Given the description of an element on the screen output the (x, y) to click on. 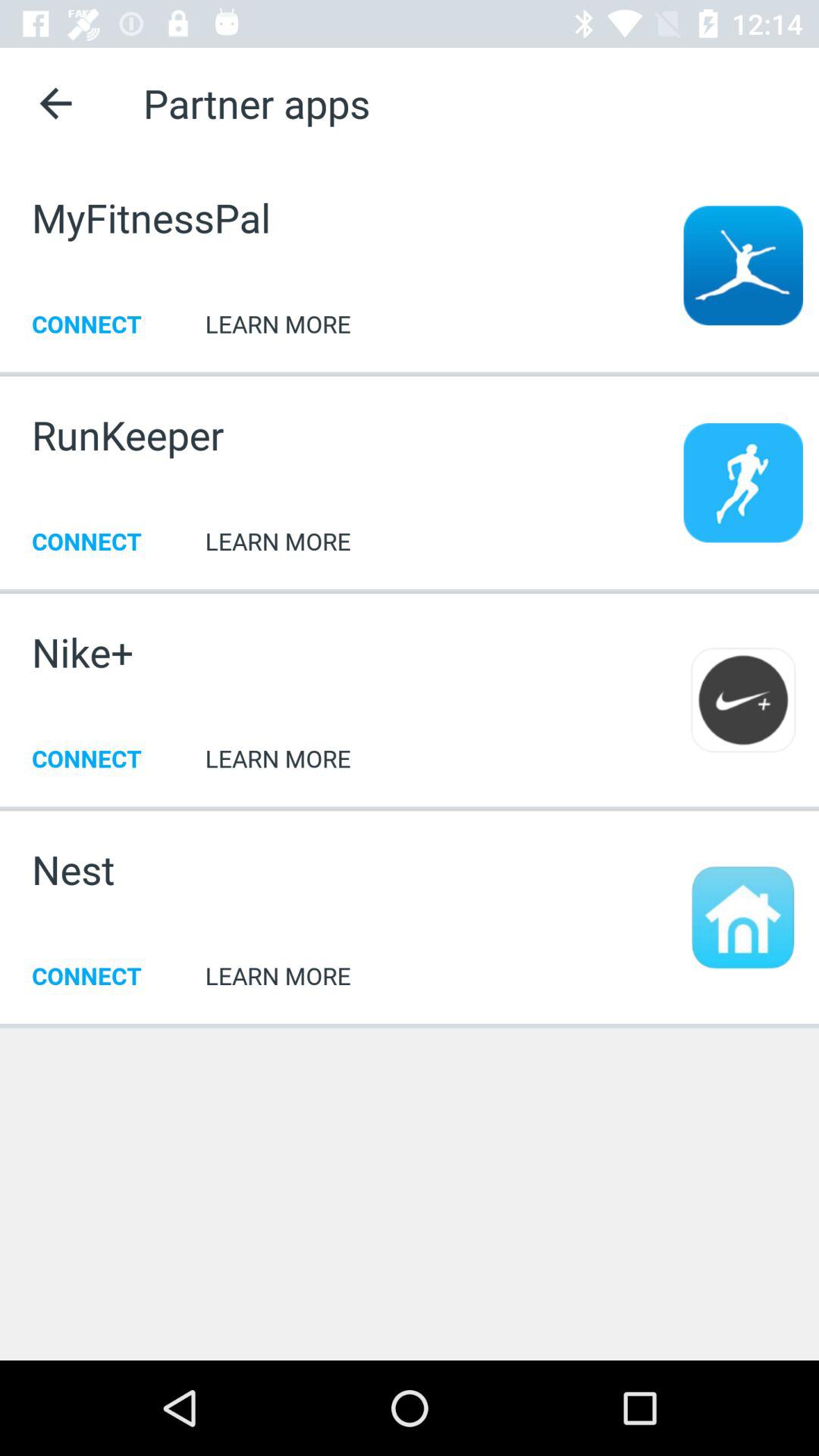
select the icon above nest (409, 807)
